Given the description of an element on the screen output the (x, y) to click on. 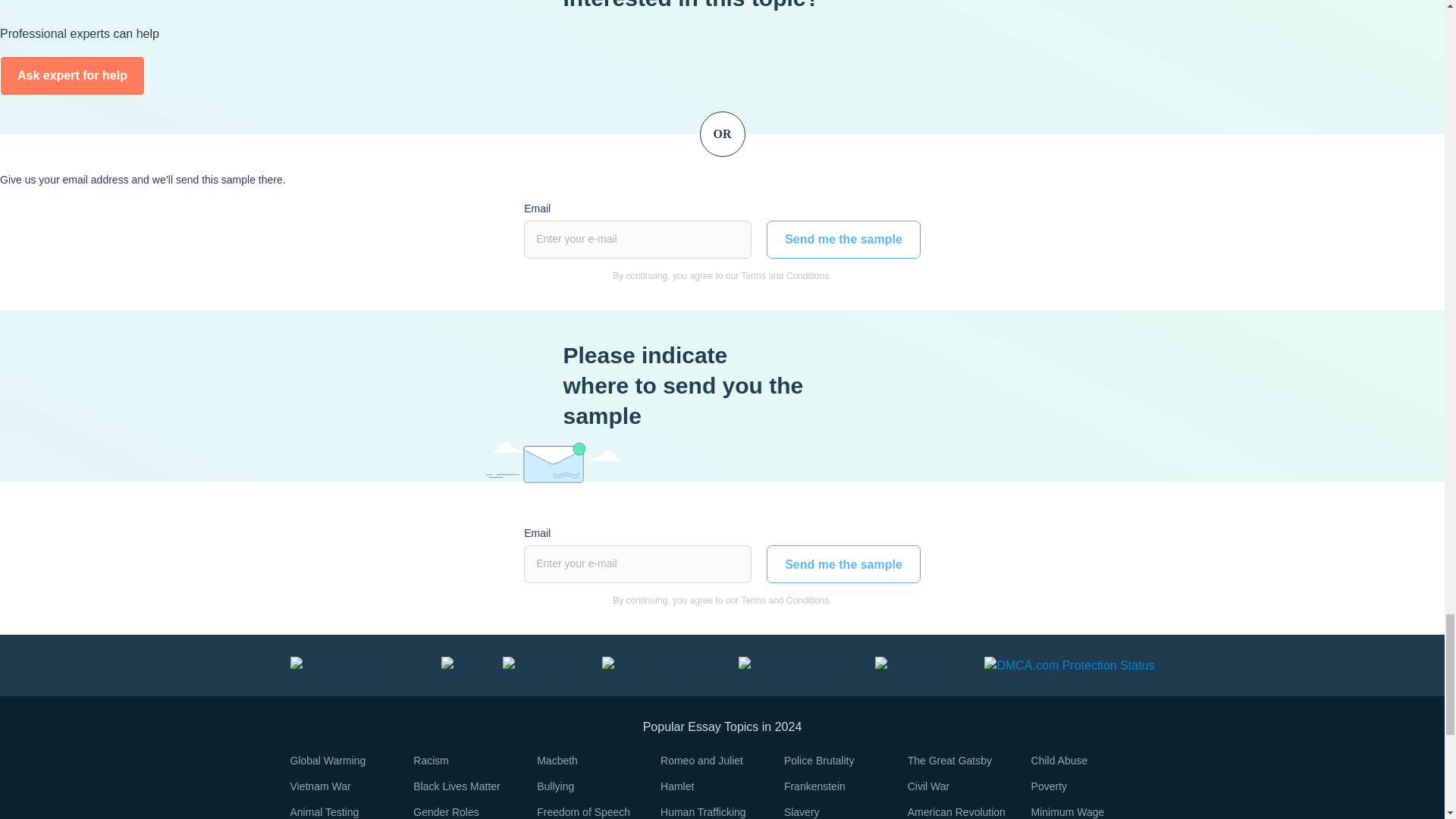
DMCA.com Protection Status (1069, 664)
